Given the description of an element on the screen output the (x, y) to click on. 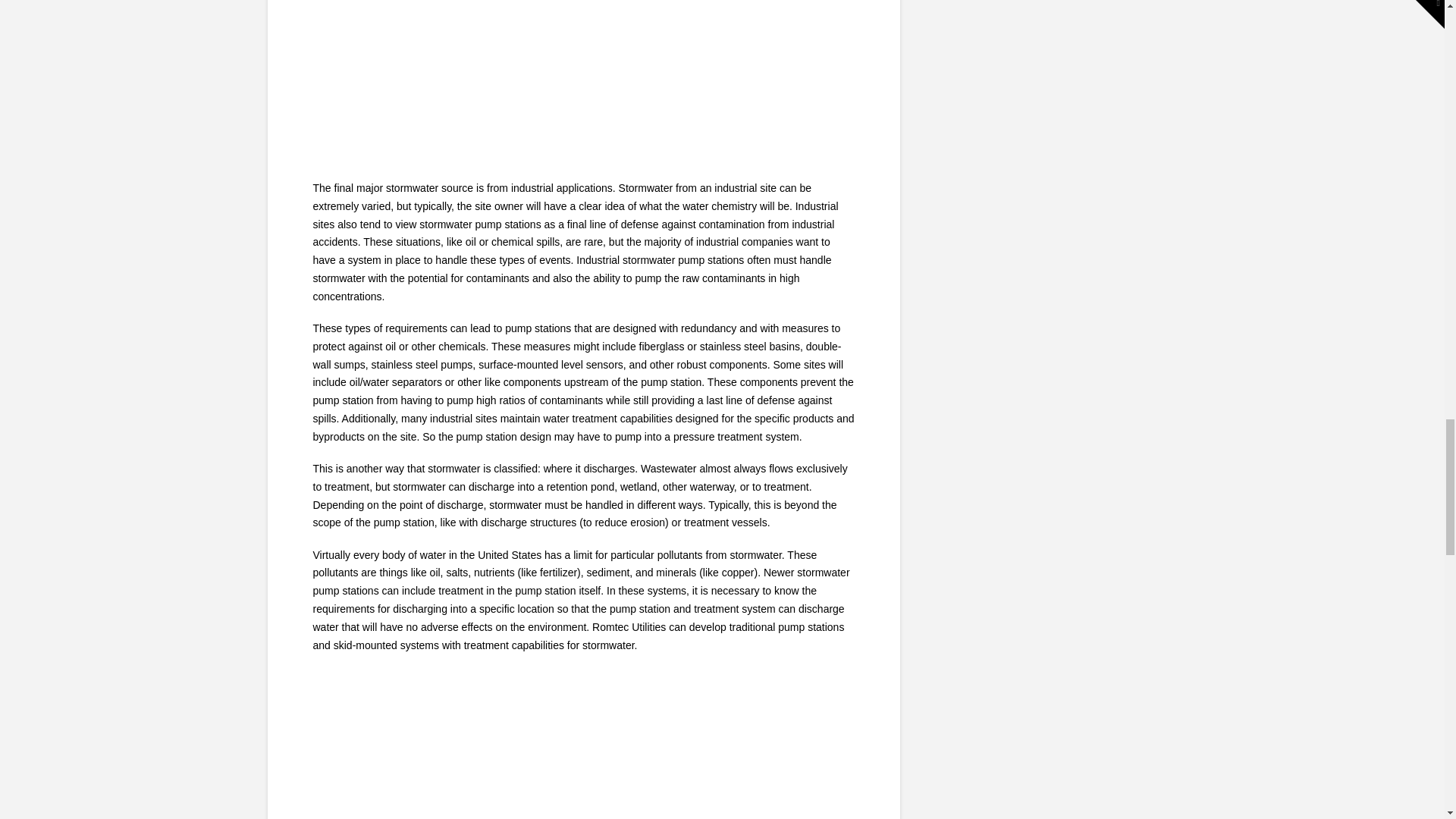
oil-water-separator-pumping (583, 76)
stormwater-discharge-structure (583, 749)
